Given the description of an element on the screen output the (x, y) to click on. 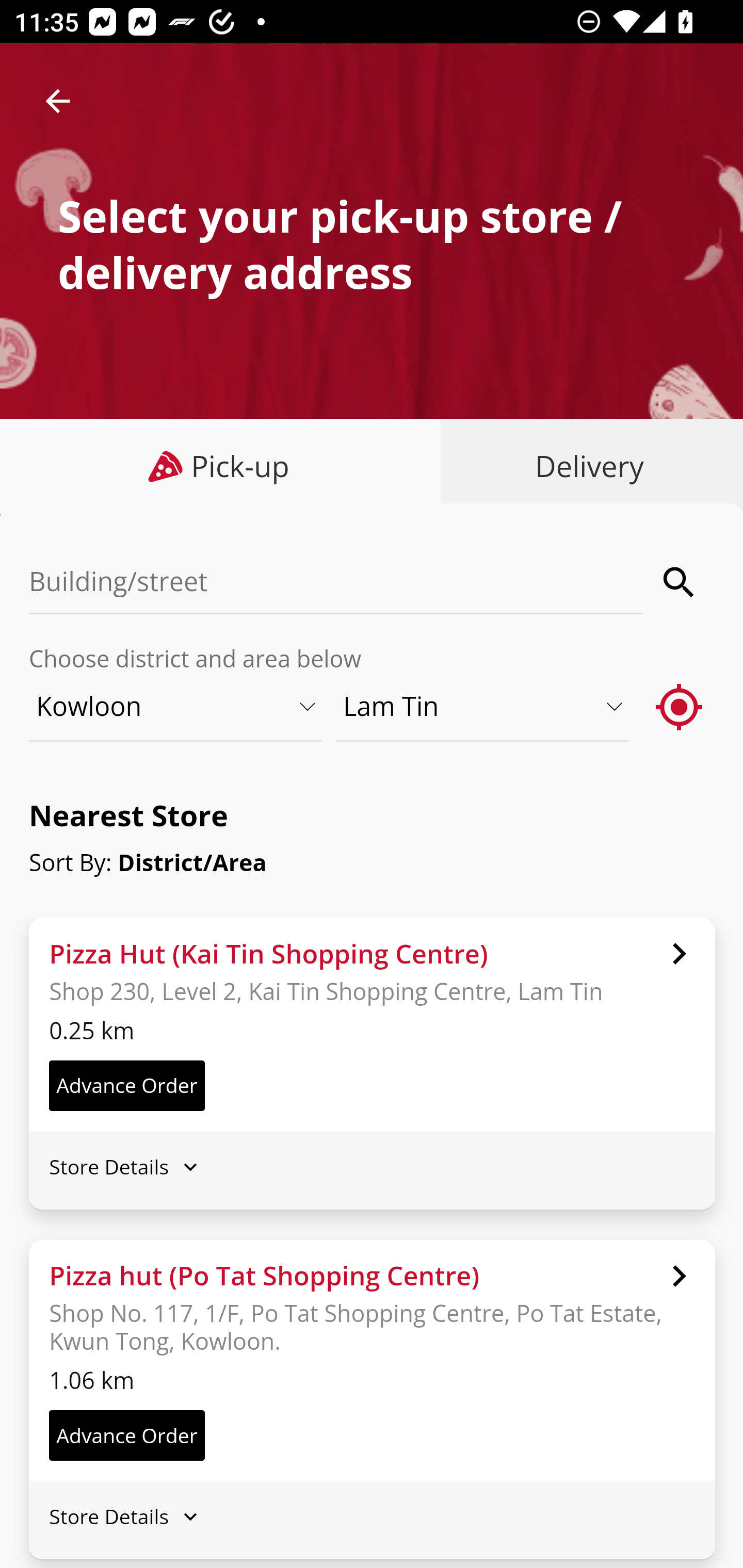
arrow_back (58, 100)
Pick-up (221, 466)
Delivery (585, 466)
search (679, 582)
gps_fixed (679, 706)
Kowloon (175, 706)
Lam Tin (482, 706)
Store Details (371, 1167)
Store Details (371, 1516)
